Given the description of an element on the screen output the (x, y) to click on. 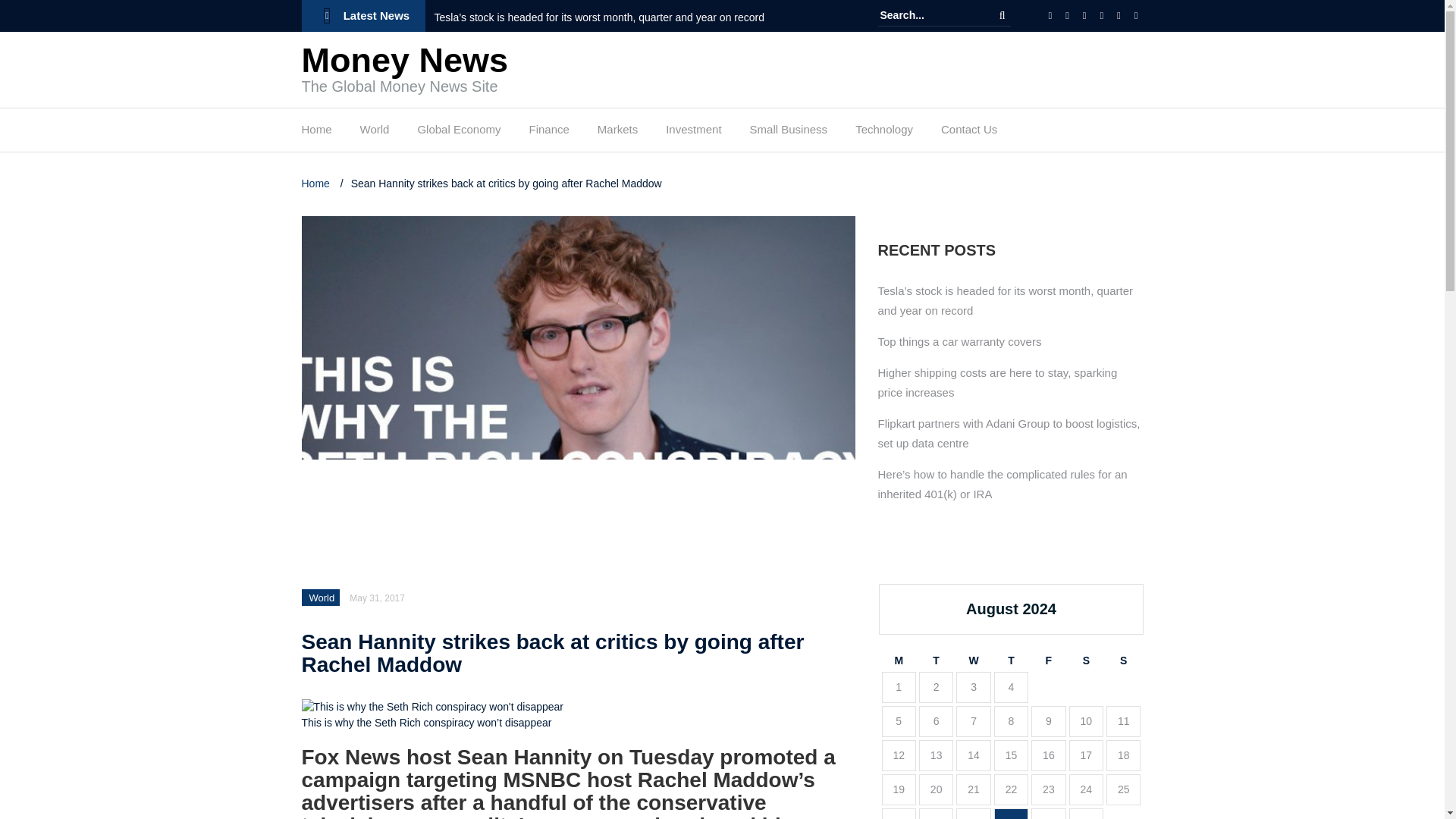
Global Economy (458, 133)
Home (316, 133)
Tuesday (935, 660)
Finance (548, 133)
Contact Us (968, 133)
Monday (897, 660)
Technology (884, 133)
Wednesday (973, 660)
Small Business (788, 133)
Investment (692, 133)
